Given the description of an element on the screen output the (x, y) to click on. 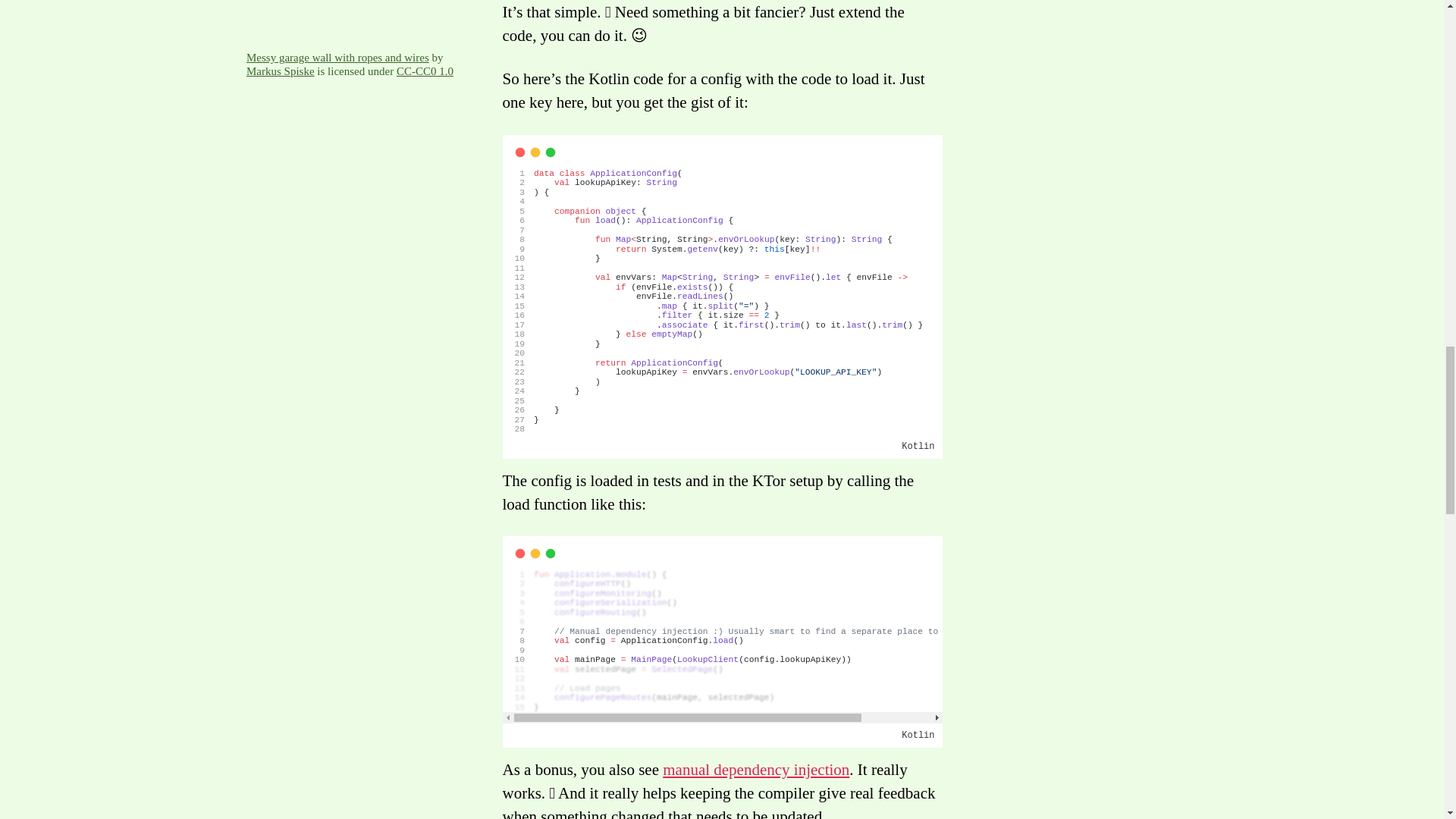
Markus Spiske (280, 70)
manual dependency injection (755, 769)
CC-CC0 1.0 (424, 70)
Messy garage wall with ropes and wires (337, 57)
